Given the description of an element on the screen output the (x, y) to click on. 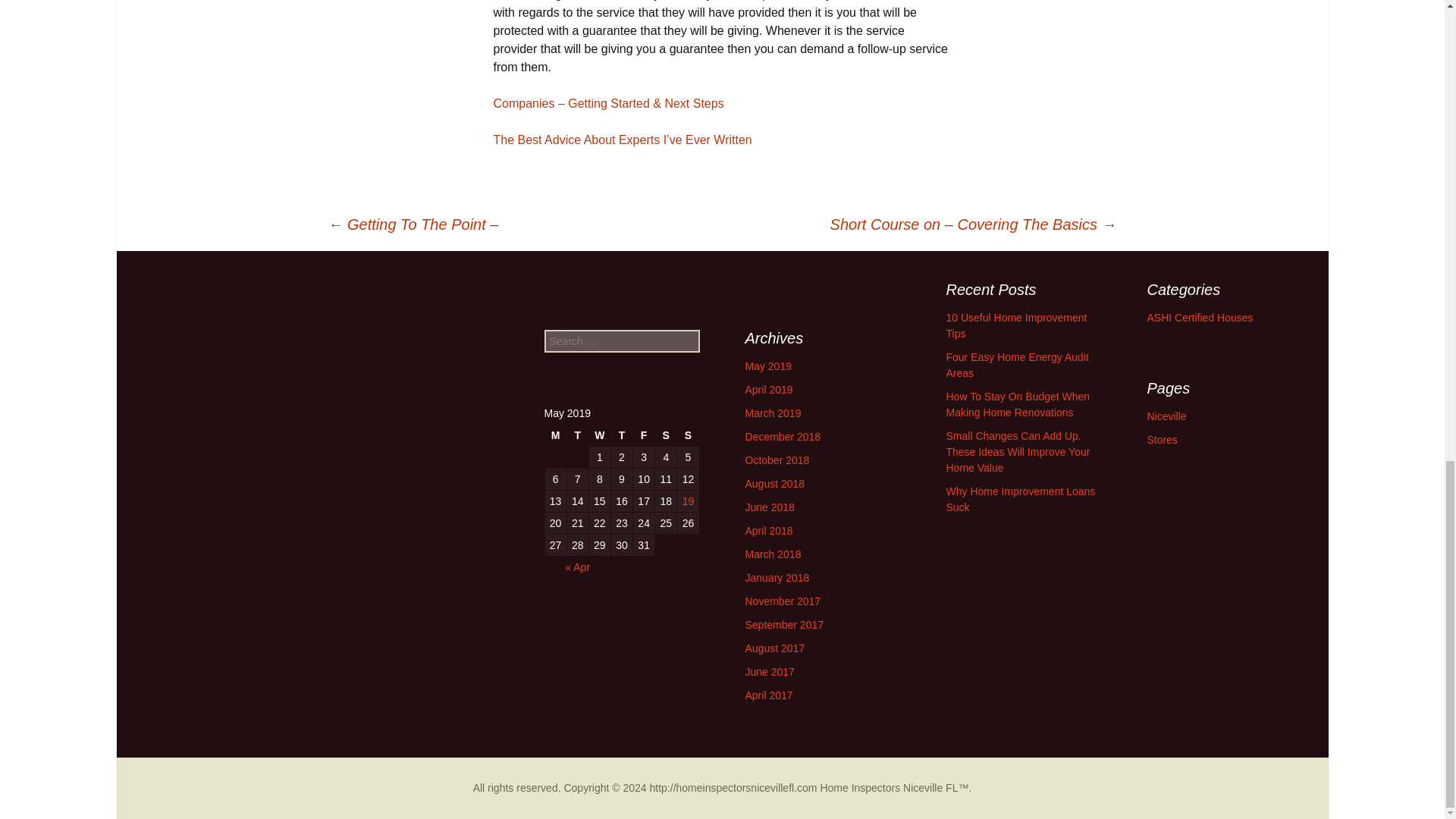
November 2017 (782, 601)
How To Stay On Budget When Making Home Renovations (1018, 404)
Sunday (687, 435)
Thursday (621, 435)
Tuesday (577, 435)
April 2018 (768, 530)
January 2018 (776, 577)
August 2018 (774, 483)
10 Useful Home Improvement Tips (1016, 325)
Why Home Improvement Loans Suck (1021, 499)
March 2019 (772, 413)
June 2017 (768, 671)
May 2019 (767, 366)
December 2018 (782, 436)
June 2018 (768, 507)
